Given the description of an element on the screen output the (x, y) to click on. 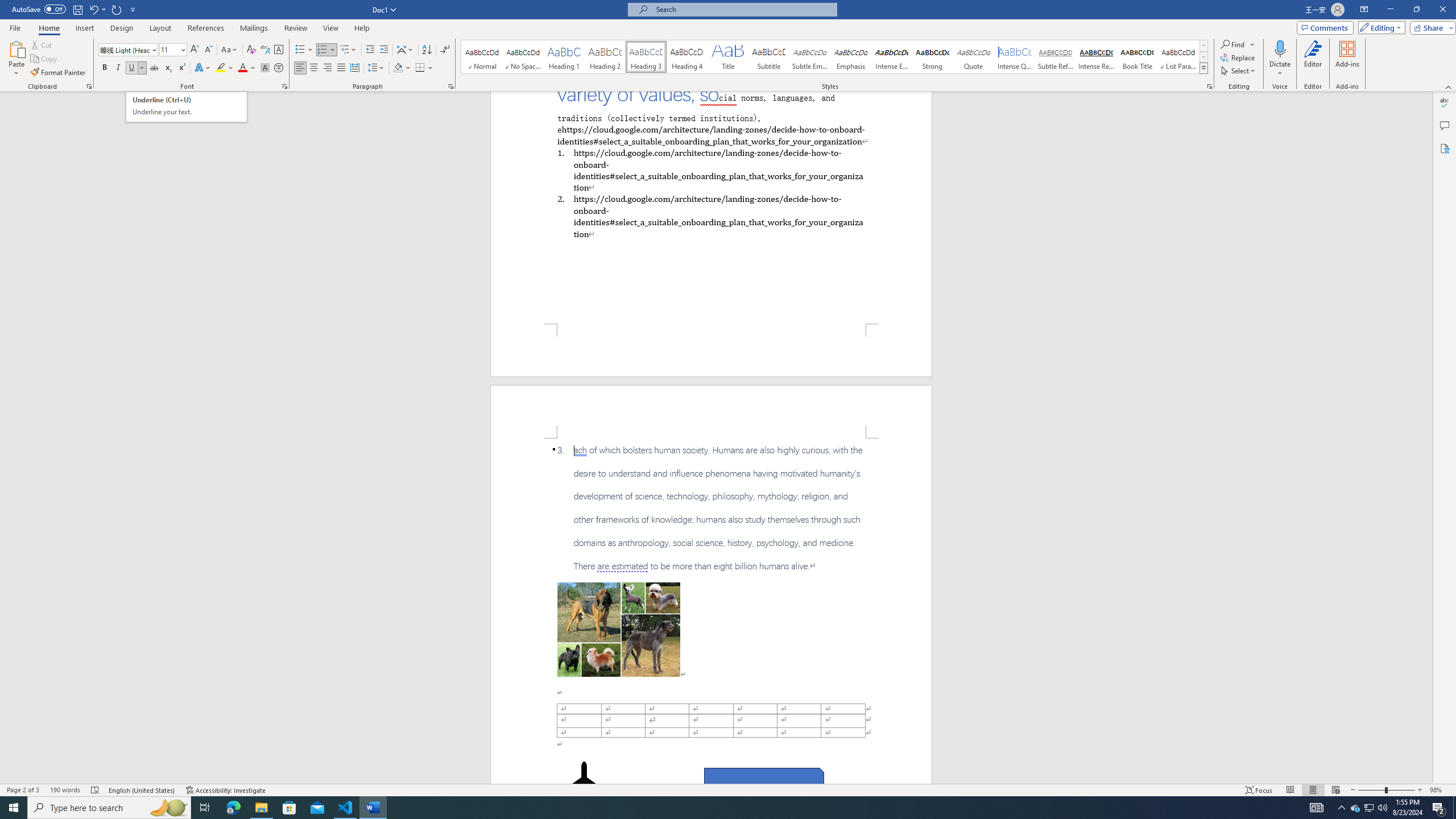
Undo Paragraph Alignment (96, 9)
